Given the description of an element on the screen output the (x, y) to click on. 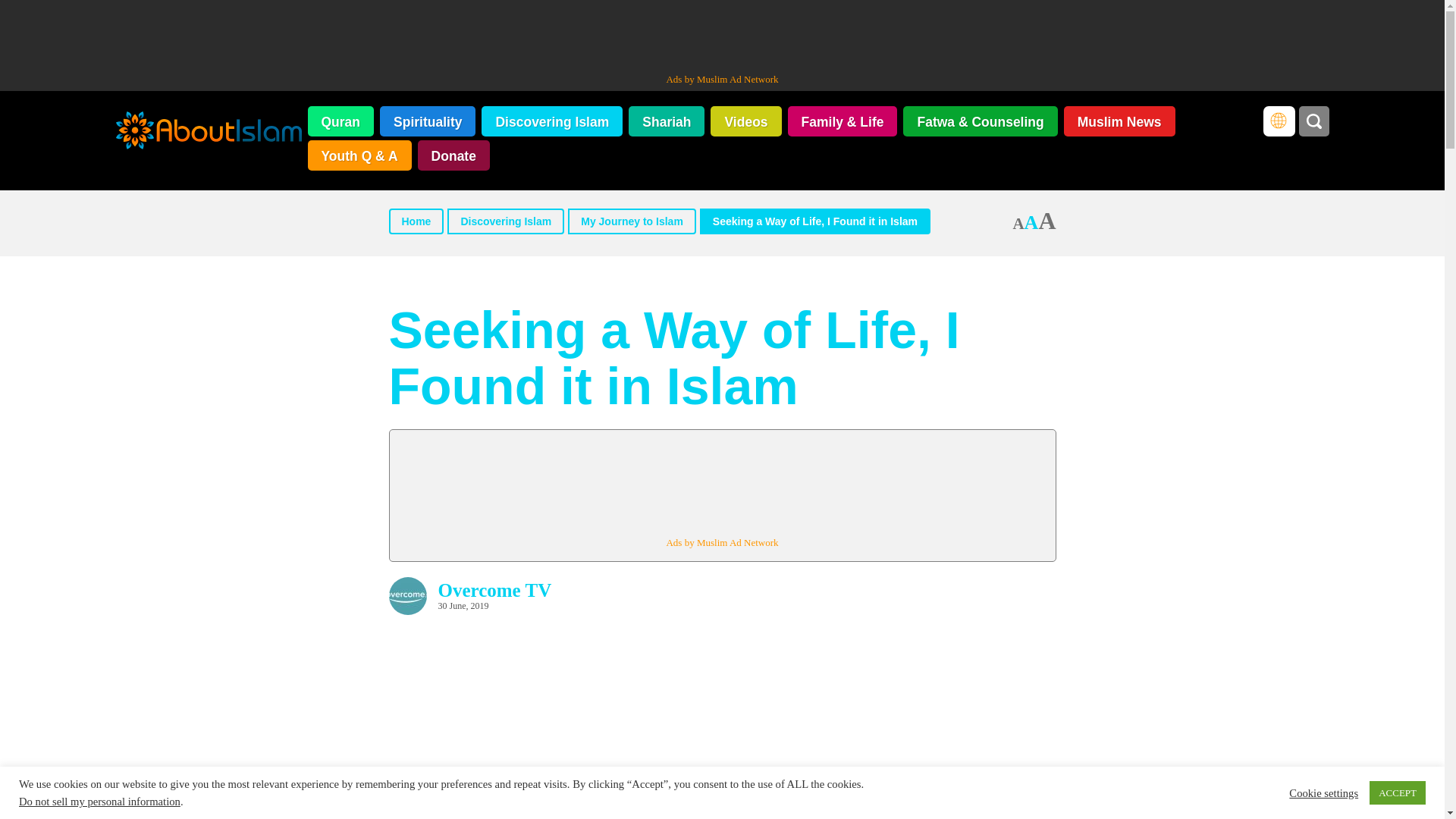
About Islam (208, 132)
Advertise and Market to Muslims (721, 542)
Discovering Islam (505, 221)
My Journey to Islam (631, 221)
Overcome TV (494, 589)
Home (416, 221)
Donate (453, 155)
Advertise and Market to Muslims (721, 79)
Videos (745, 121)
Seeking a Way of Life, I Found it in Islam (815, 221)
Ads by Muslim Ad Network (721, 79)
Home (416, 221)
Ads by Muslim Ad Network (721, 542)
Search (1312, 121)
Muslim News (1119, 121)
